Given the description of an element on the screen output the (x, y) to click on. 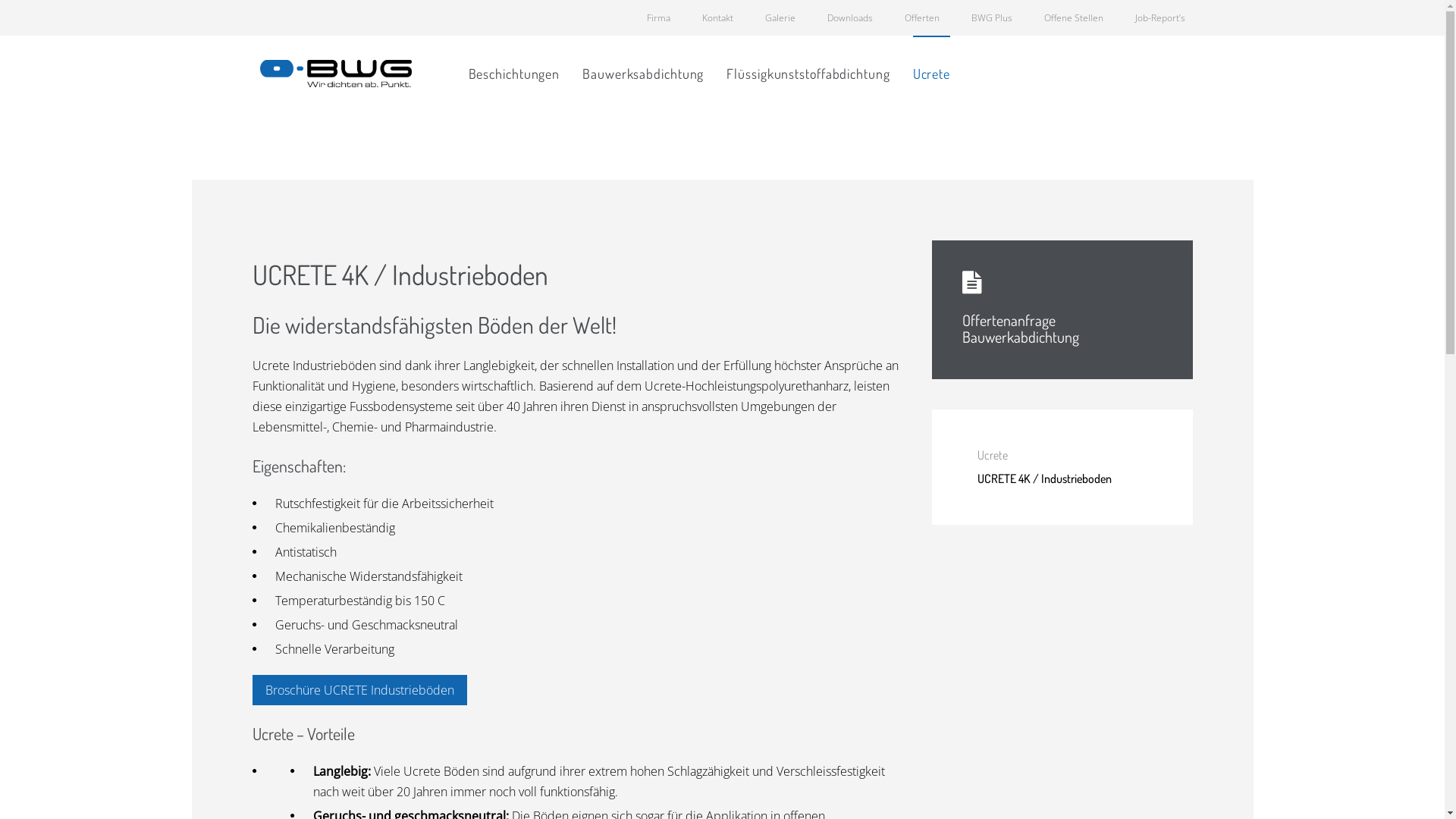
Firma Element type: text (657, 17)
UCRETE 4K / Industrieboden Element type: text (1076, 478)
Offertenanfrage Bauwerkabdichtung Element type: text (1019, 328)
Offerten Element type: text (920, 17)
Downloads Element type: text (849, 17)
BWG Plus Element type: text (990, 17)
Ucrete Element type: text (931, 73)
Offene Stellen Element type: text (1072, 17)
Bauwerksabdichtung Element type: text (642, 73)
Beschichtungen Element type: text (514, 73)
Kontakt Element type: text (717, 17)
Galerie Element type: text (779, 17)
Ucrete Element type: text (1076, 455)
